Given the description of an element on the screen output the (x, y) to click on. 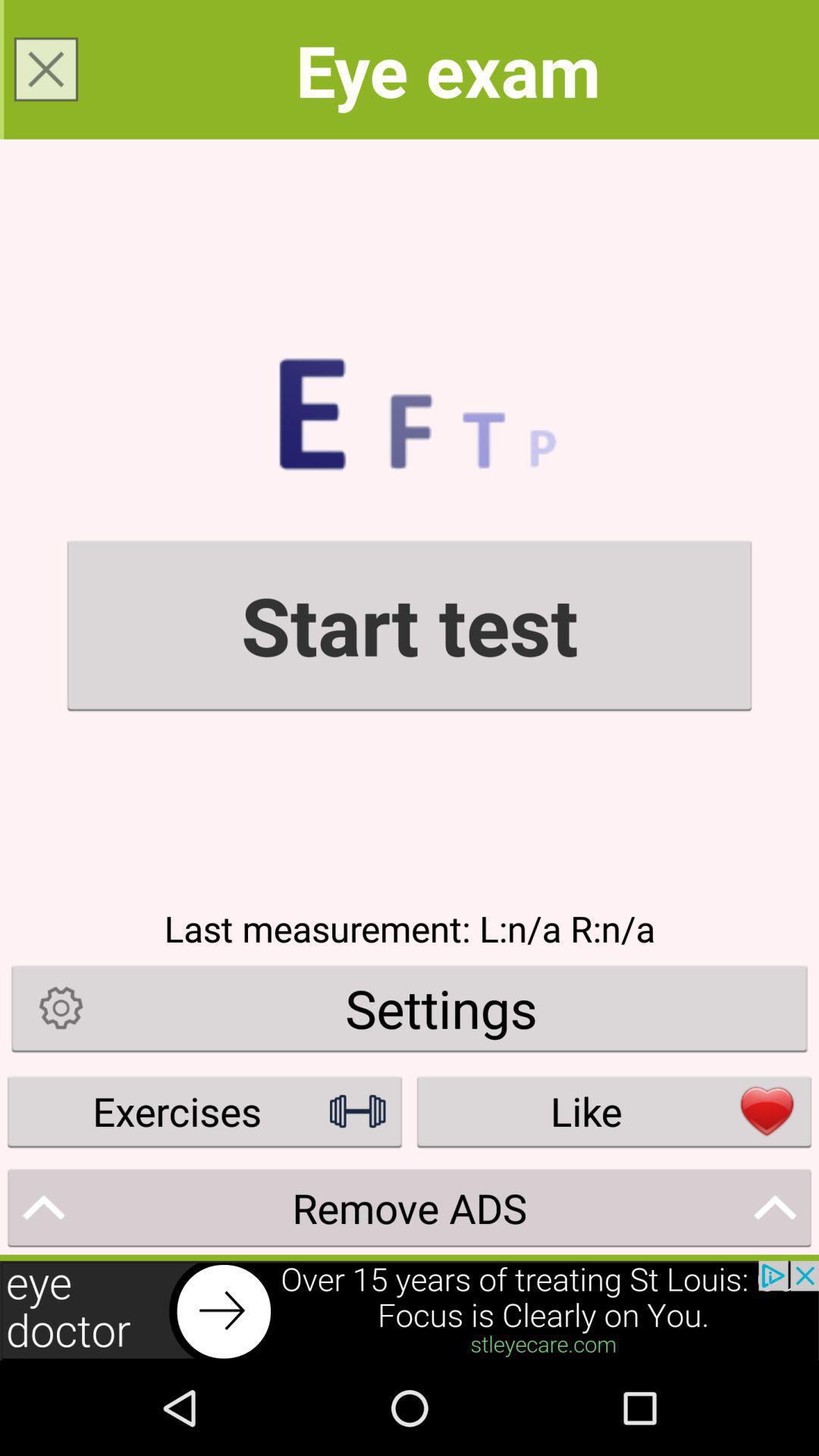
close (45, 69)
